Given the description of an element on the screen output the (x, y) to click on. 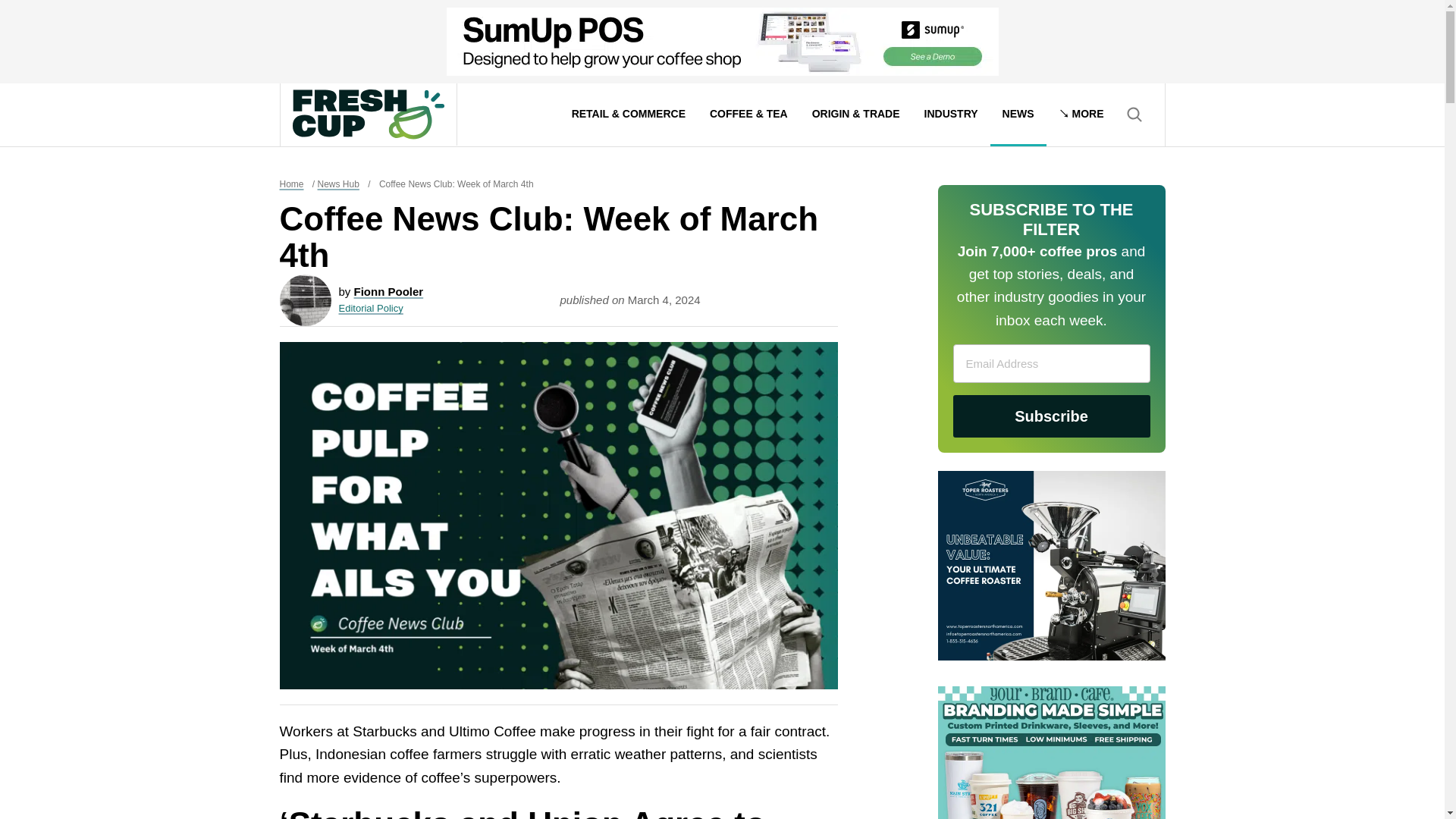
Subscribe (1051, 415)
NEWS (1018, 114)
Fresh Cup Magazine (368, 114)
INDUSTRY (951, 114)
